Given the description of an element on the screen output the (x, y) to click on. 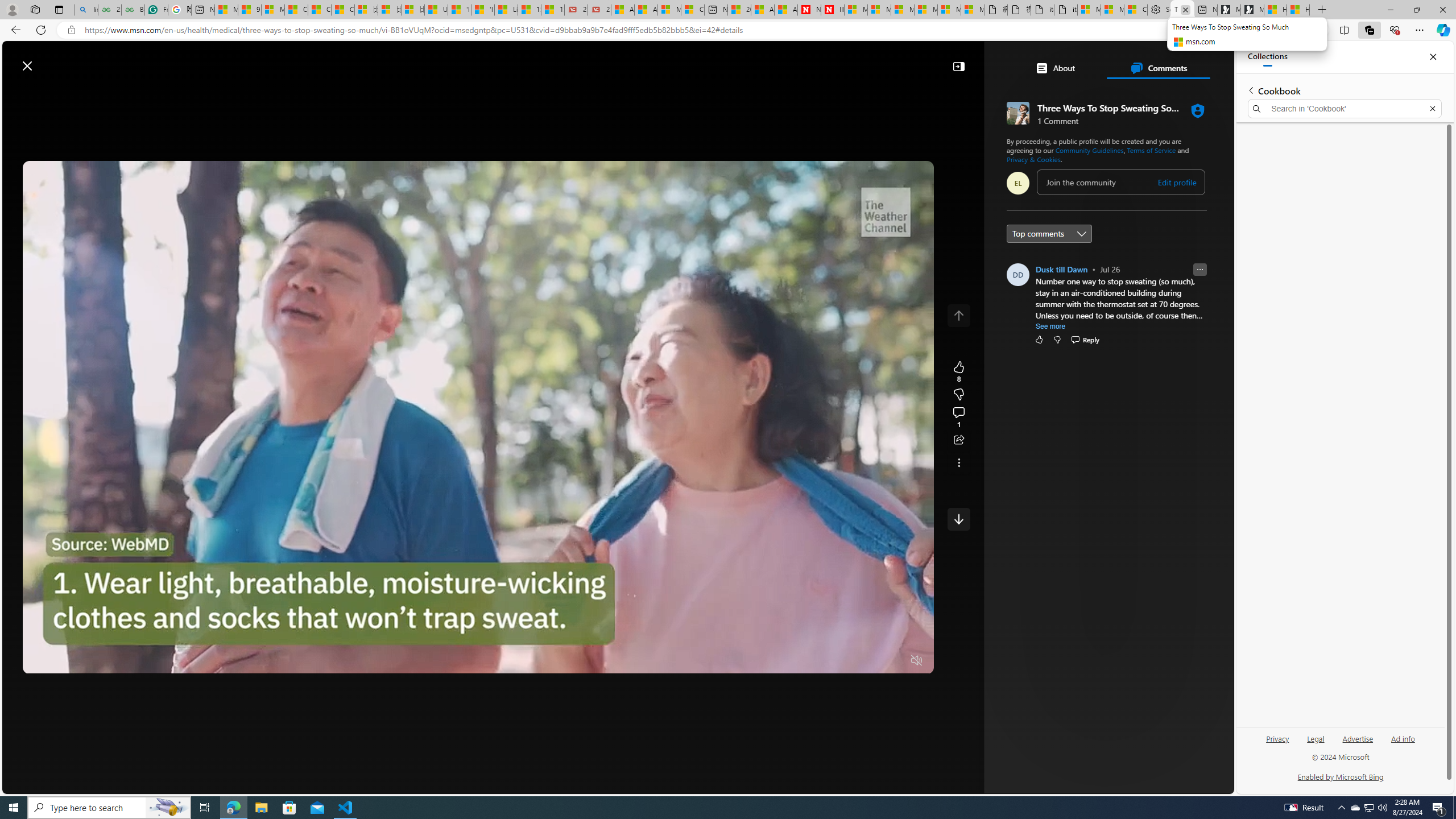
Reply Reply Comment (1084, 339)
Fix Boat Bliss (1123, 163)
AutomationID: e5rZOEMGacU1 (958, 518)
Class: control (958, 518)
Back to list of collections (1250, 90)
